Given the description of an element on the screen output the (x, y) to click on. 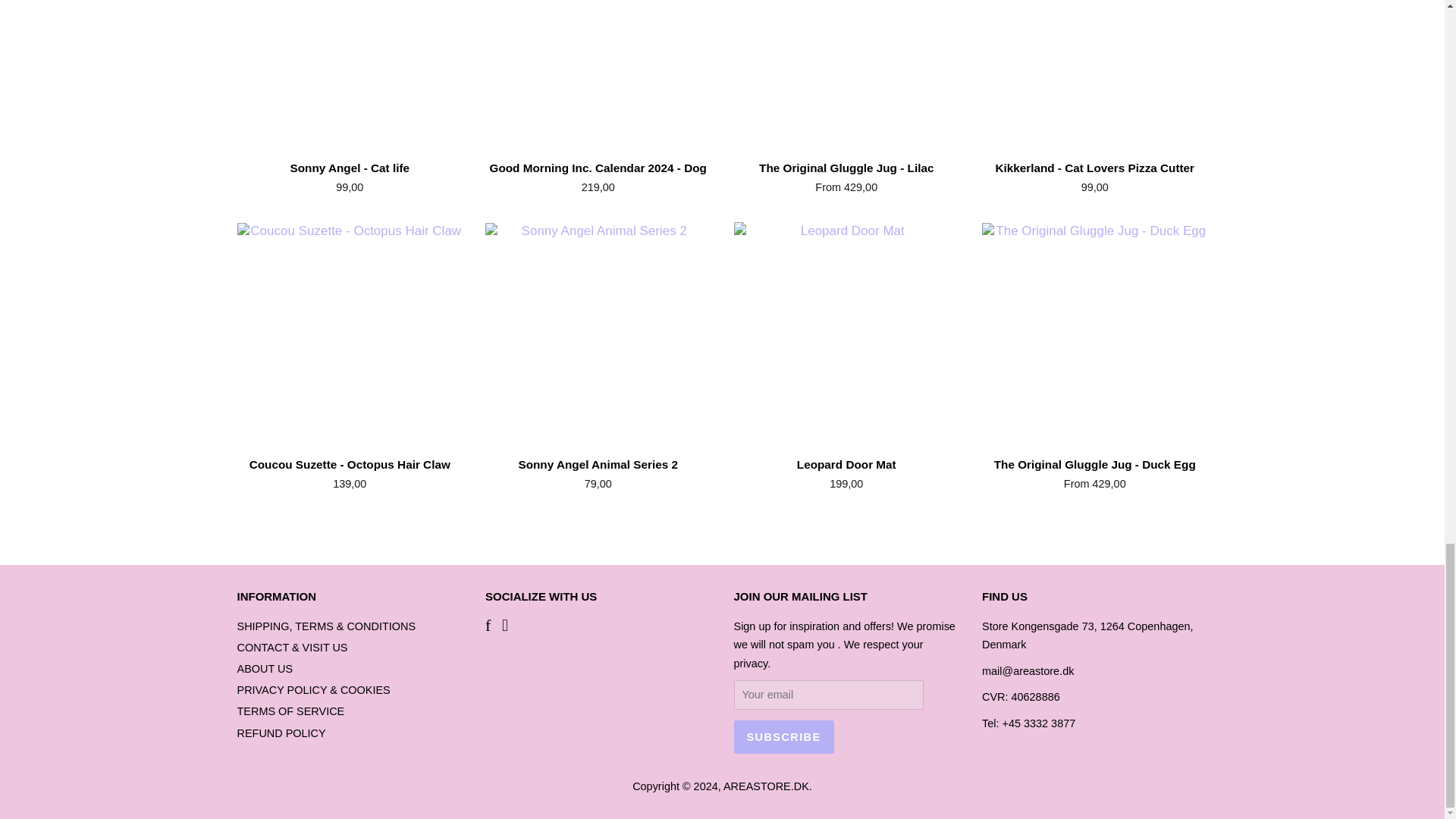
Subscribe (783, 736)
